Given the description of an element on the screen output the (x, y) to click on. 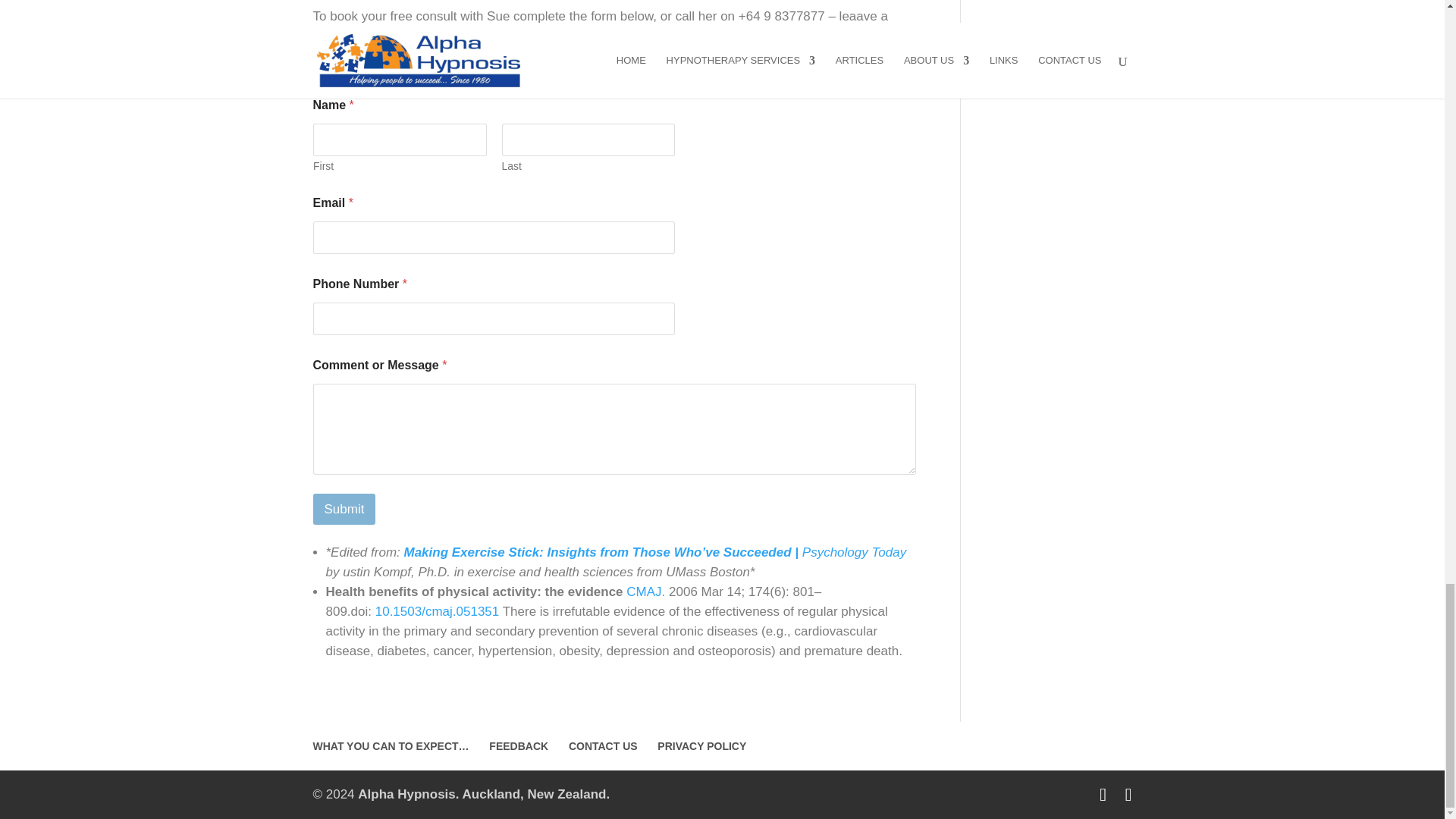
CONTACT US (603, 746)
CMAJ. (645, 591)
Submit (344, 508)
Alpha Hypnosis. Auckland, New Zealand. (484, 794)
PRIVACY POLICY (701, 746)
Hypnotherapy Auckland (484, 794)
FEEDBACK (518, 746)
